Given the description of an element on the screen output the (x, y) to click on. 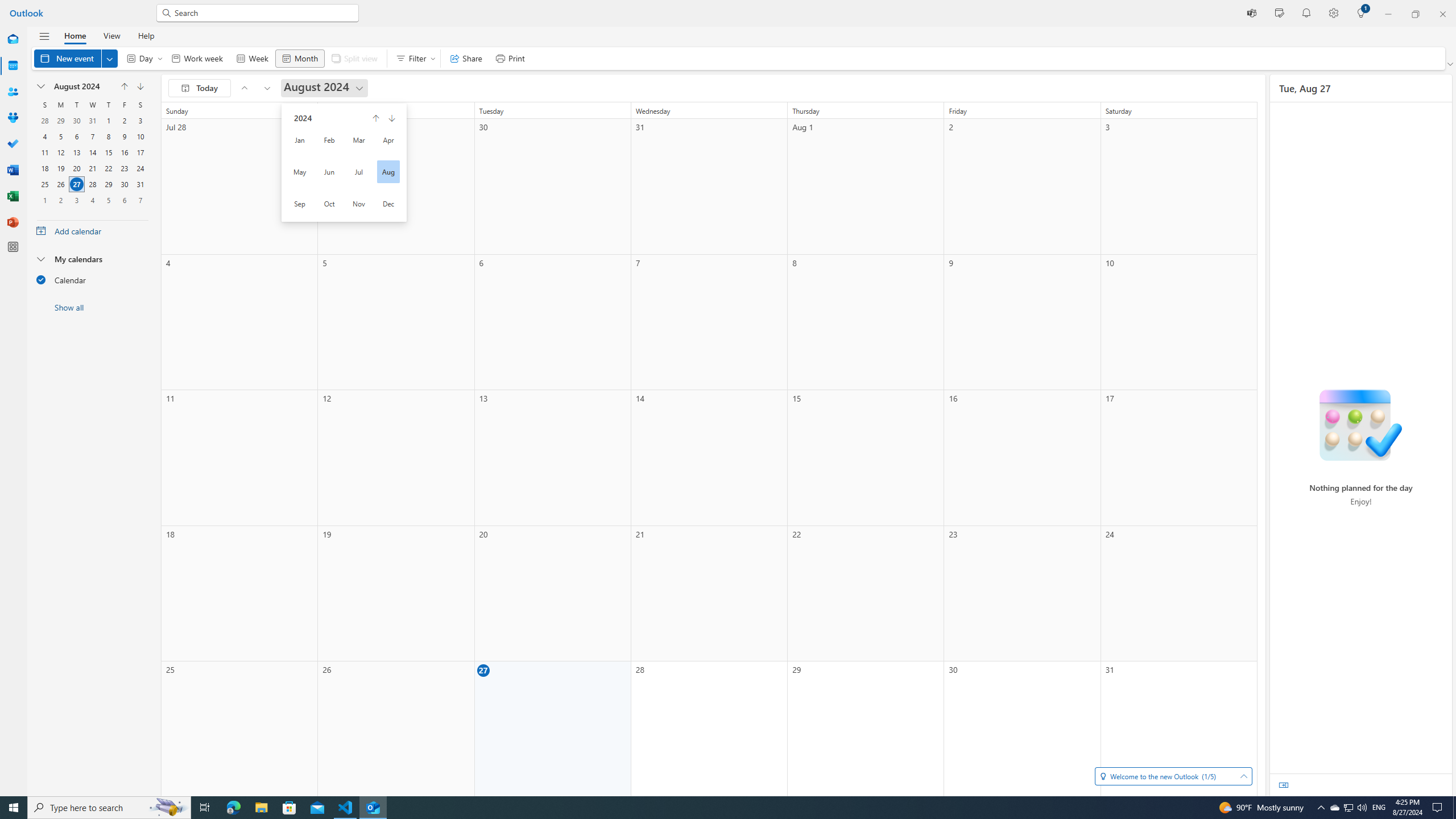
System (6, 6)
Help (146, 35)
30, August, 2024 (124, 184)
Sunday (44, 104)
Week (251, 58)
Hide navigation pane (44, 36)
2, September, 2024 (59, 200)
4, September, 2024 (92, 200)
16, August, 2024 (124, 152)
Excel (12, 196)
28, July, 2024 (44, 120)
19, August, 2024 (60, 168)
Tuesday (76, 104)
3, September, 2024 (75, 200)
